Given the description of an element on the screen output the (x, y) to click on. 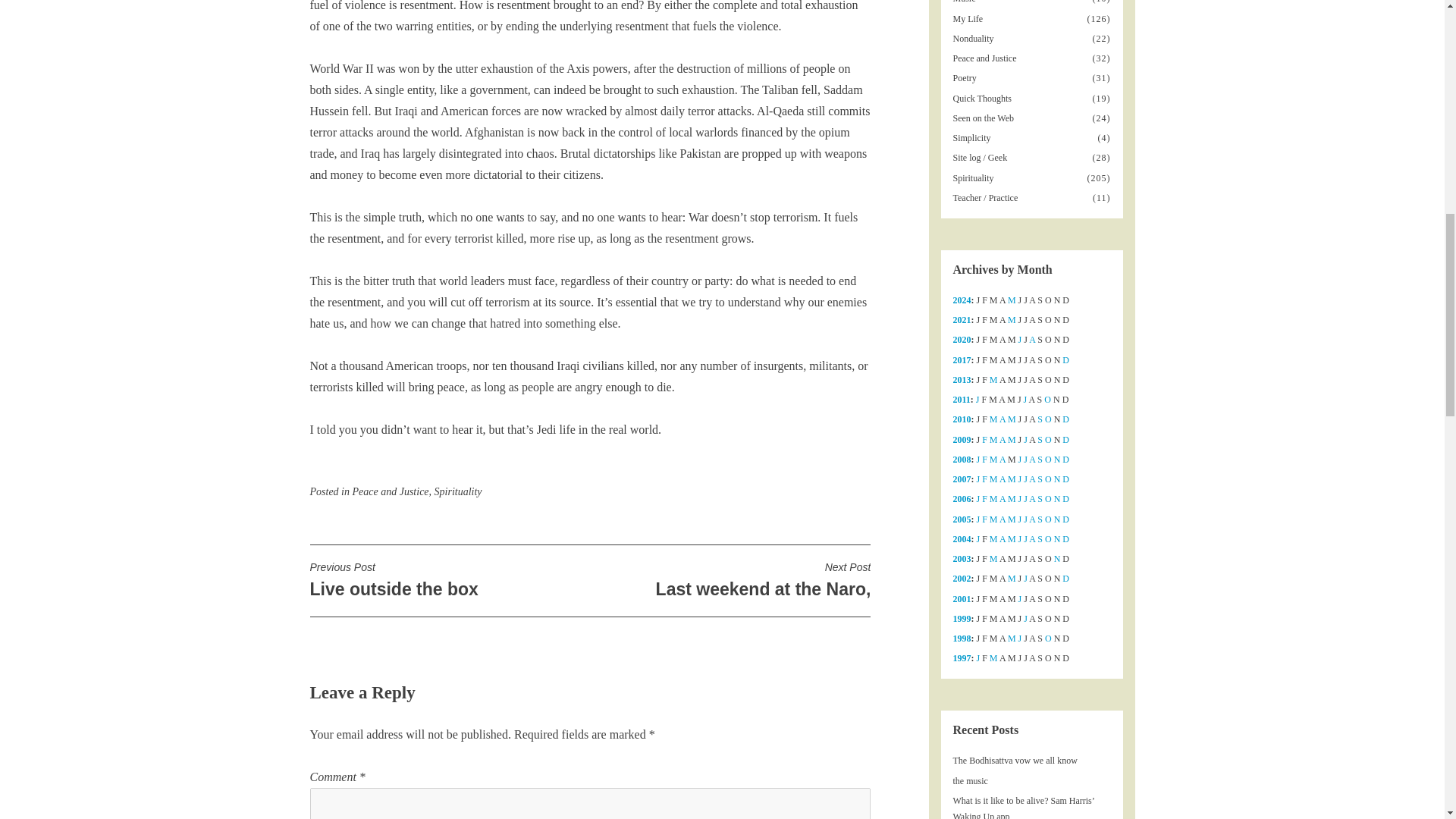
December 2001 (448, 579)
Peace and Justice (1065, 359)
January 2001 (390, 491)
Spirituality (977, 398)
August 2001 (457, 491)
Nonduality (1032, 339)
My Life (974, 38)
May 2001 (729, 579)
October 2001 (969, 18)
Music (1011, 319)
June 2001 (1048, 419)
May 2001 (965, 2)
April 2001 (1019, 339)
